Given the description of an element on the screen output the (x, y) to click on. 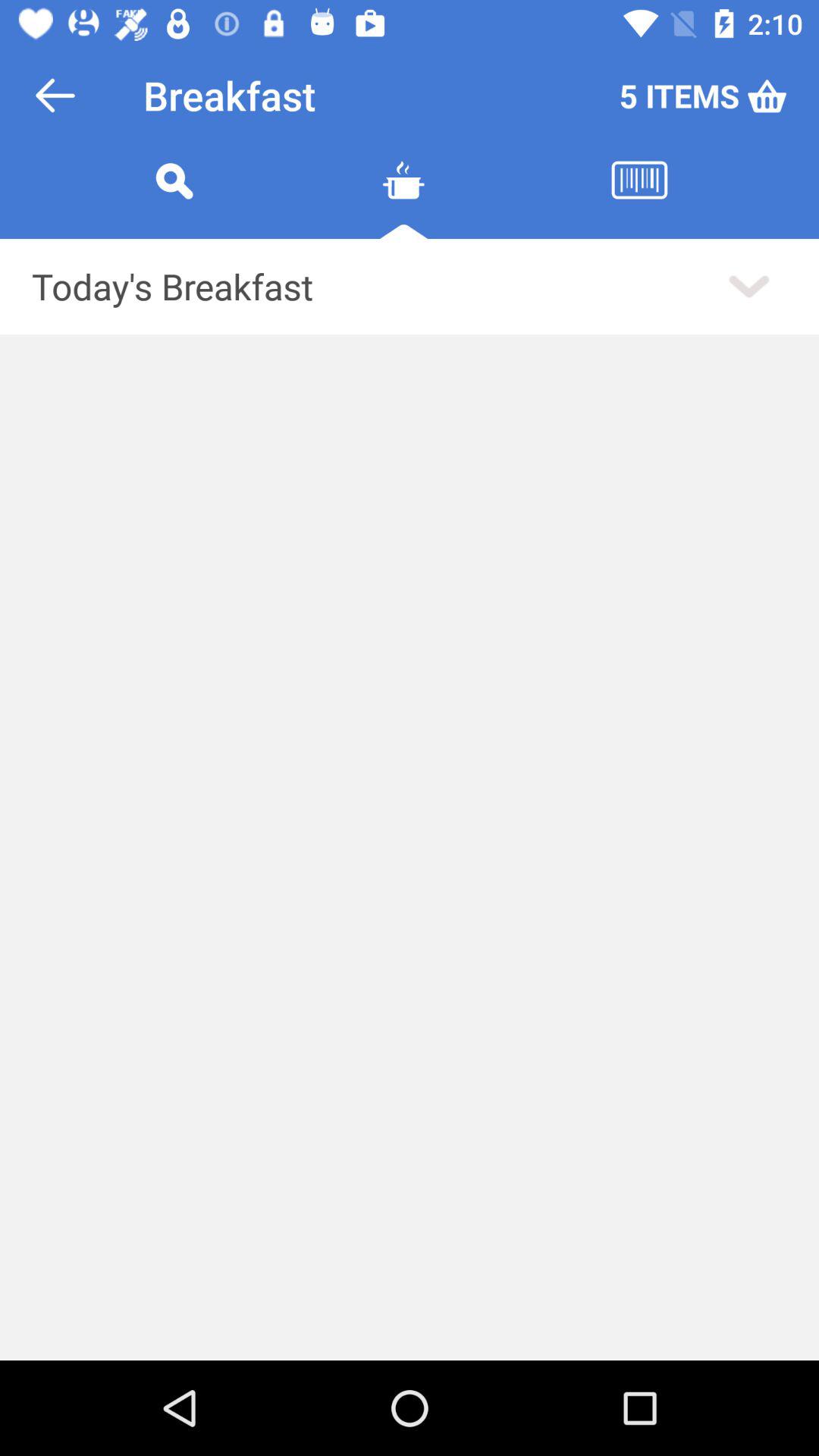
barcode reader (639, 198)
